Given the description of an element on the screen output the (x, y) to click on. 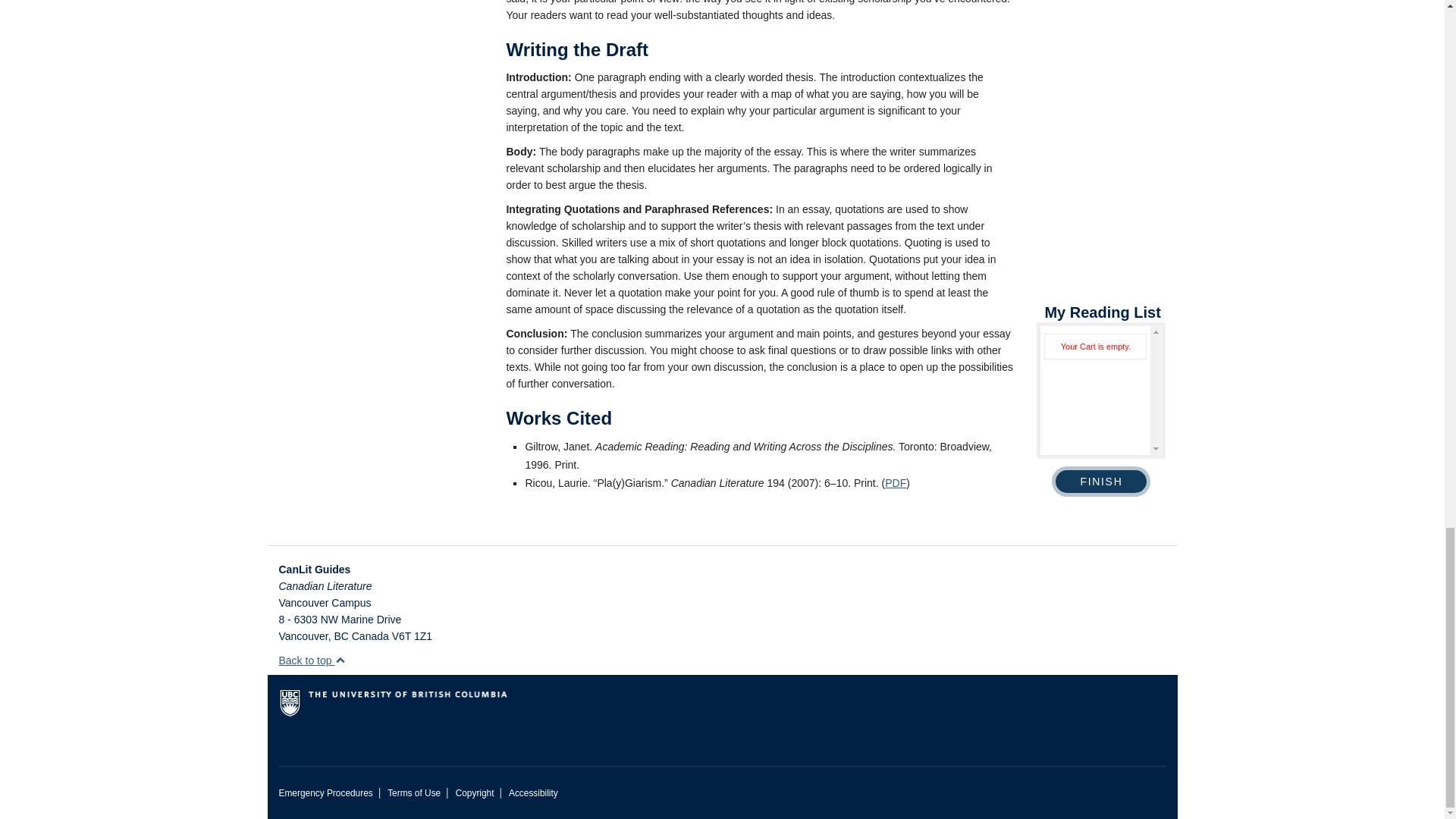
Copyright (475, 792)
UBC Copyright (475, 792)
Terms of Use (414, 792)
The University of British Columbia (456, 709)
Link to article PDF (895, 482)
PDF (895, 482)
Emergency Procedures (325, 792)
Back to top (312, 660)
Terms of Use (414, 792)
Back to top (312, 660)
Emergency Procedures (325, 792)
Accessibility (532, 792)
Accessibility (532, 792)
